Given the description of an element on the screen output the (x, y) to click on. 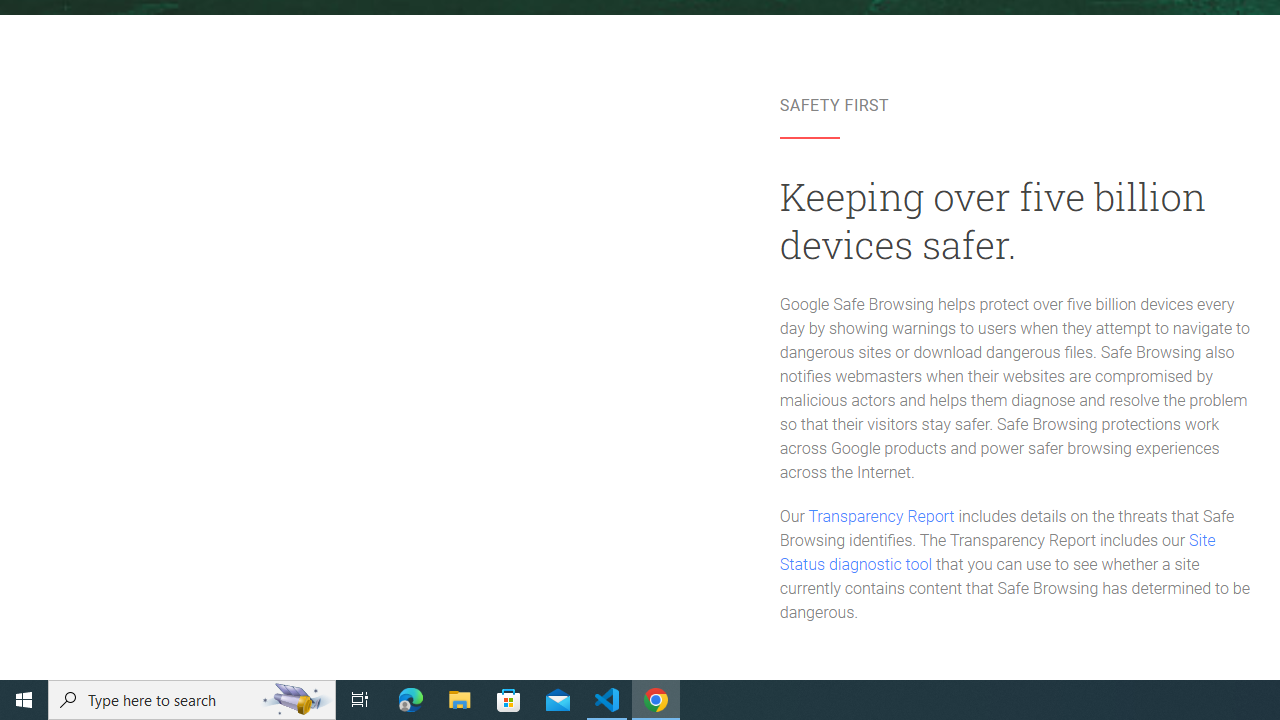
Transparency Report (880, 516)
Site Status diagnostic tool (997, 553)
